Given the description of an element on the screen output the (x, y) to click on. 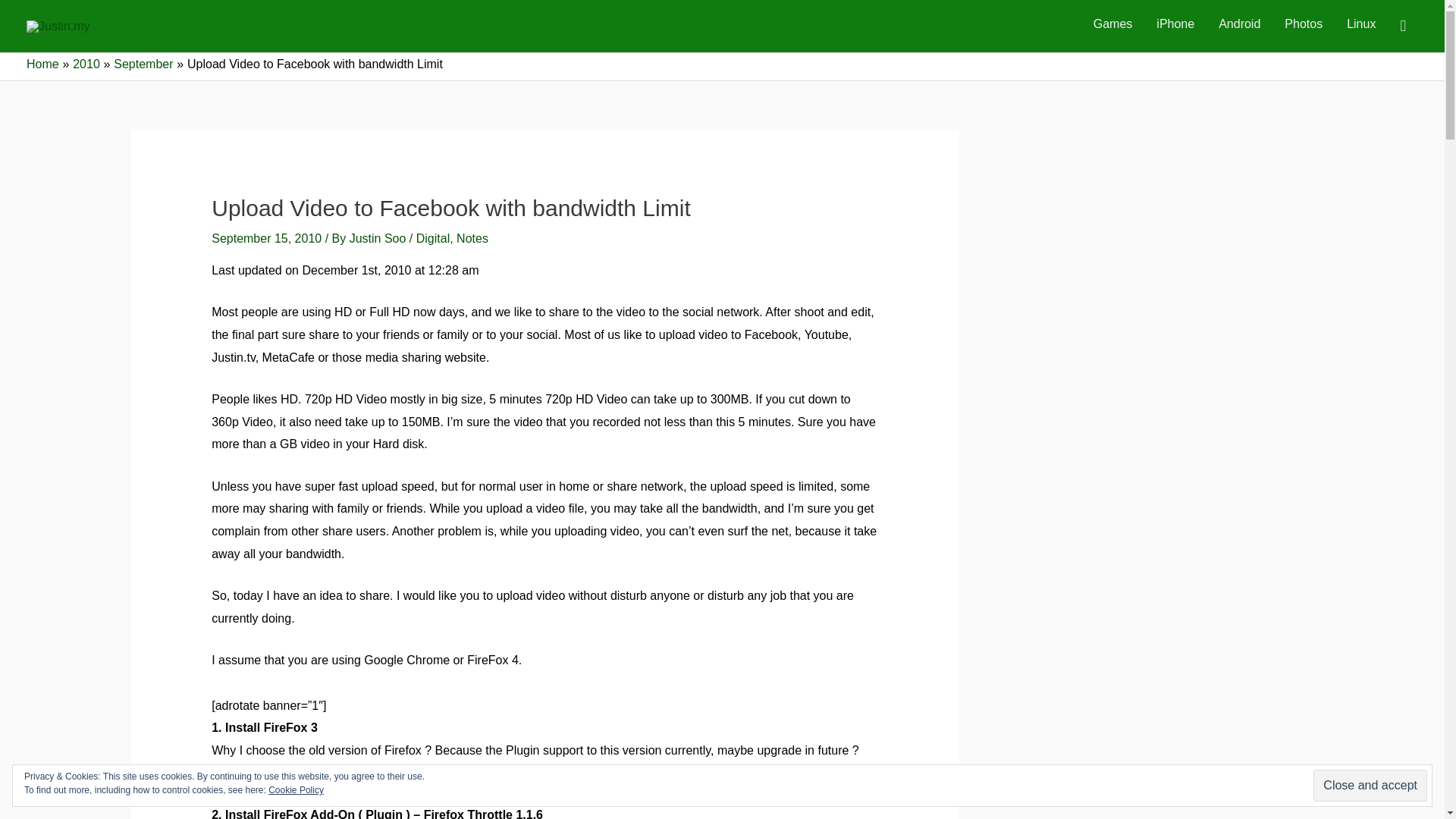
2010 (86, 63)
Justin Soo (379, 237)
Linux (1361, 24)
September (143, 63)
Android (1239, 24)
View all posts by Justin Soo (379, 237)
here (731, 772)
iPhone (1175, 24)
Notes (472, 237)
Games (1112, 24)
